Given the description of an element on the screen output the (x, y) to click on. 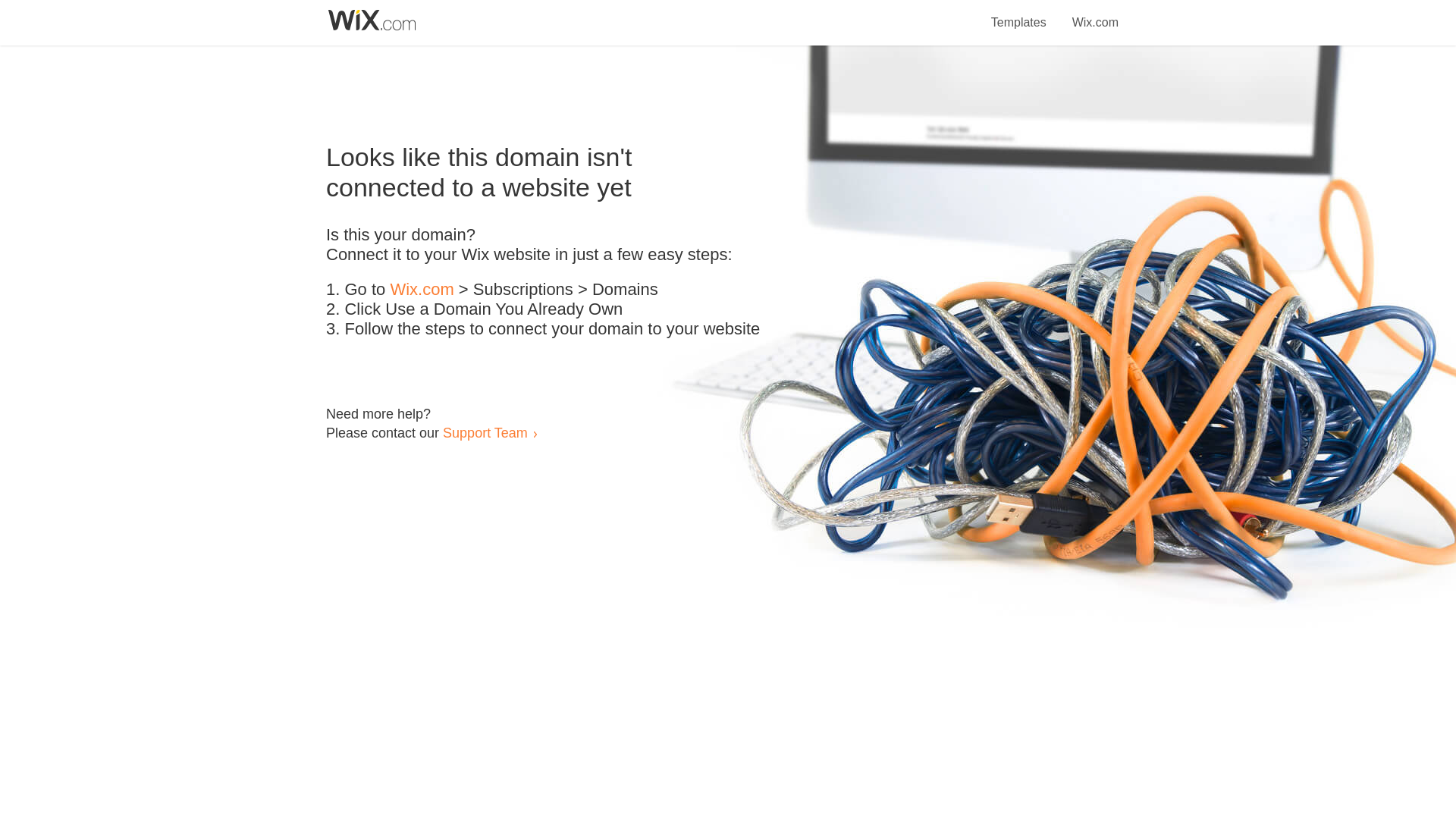
Wix.com (1095, 14)
Wix.com (421, 289)
Support Team (484, 432)
Templates (1018, 14)
